Given the description of an element on the screen output the (x, y) to click on. 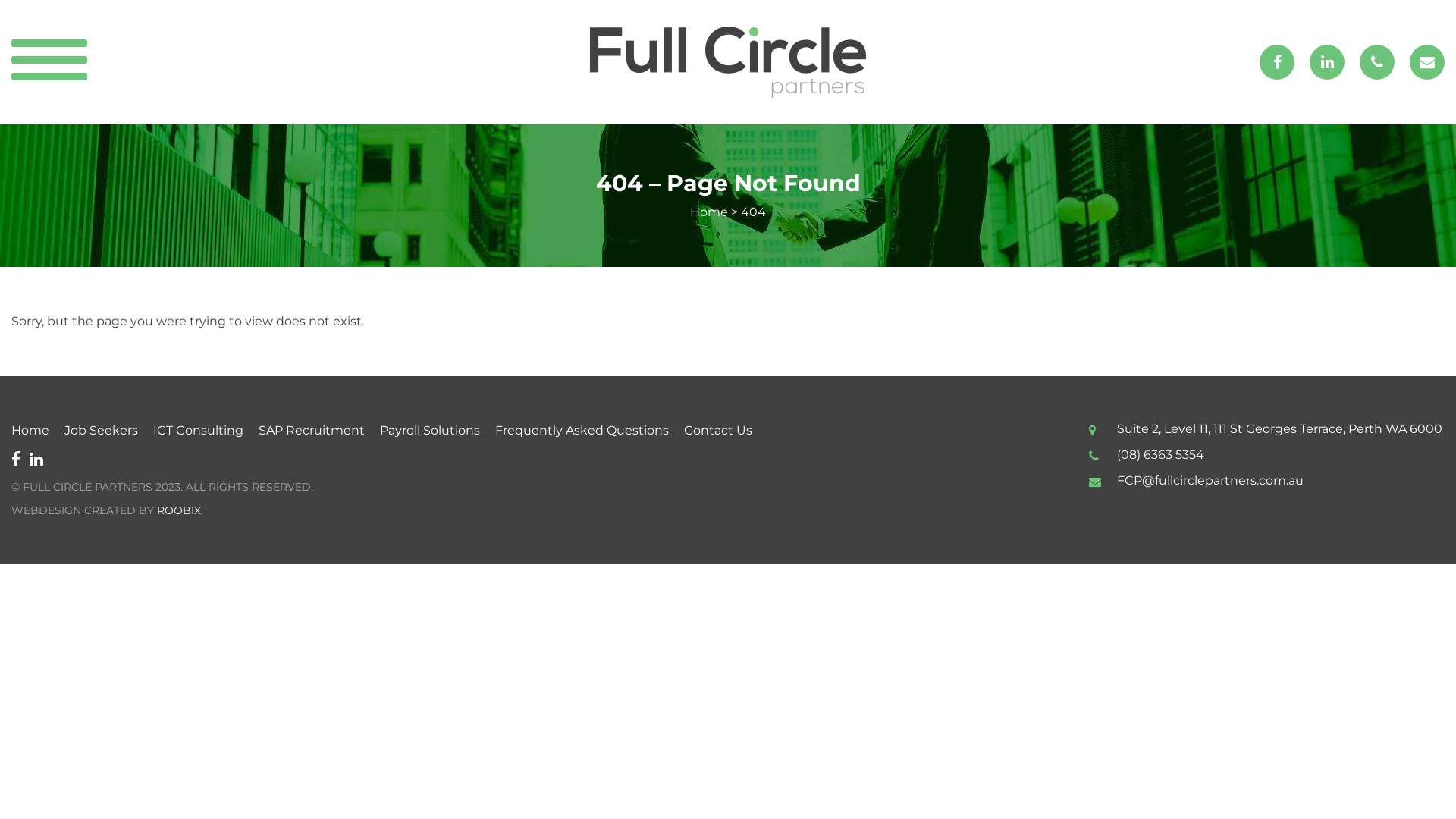
FCP@fullcirclepartners.com.au Element type: text (1210, 480)
ICT Consulting Element type: text (198, 430)
Home Element type: text (29, 430)
Payroll Solutions Element type: text (429, 430)
Job Seekers Element type: text (100, 430)
Home Element type: text (709, 211)
Frequently Asked Questions Element type: text (581, 430)
ROOBIX Element type: text (178, 509)
(08) 6363 5354 Element type: text (1160, 454)
Contact Us Element type: text (717, 430)
Suite 2, Level 11, 111 St Georges Terrace, Perth WA 6000 Element type: text (1279, 428)
SAP Recruitment Element type: text (311, 430)
